Given the description of an element on the screen output the (x, y) to click on. 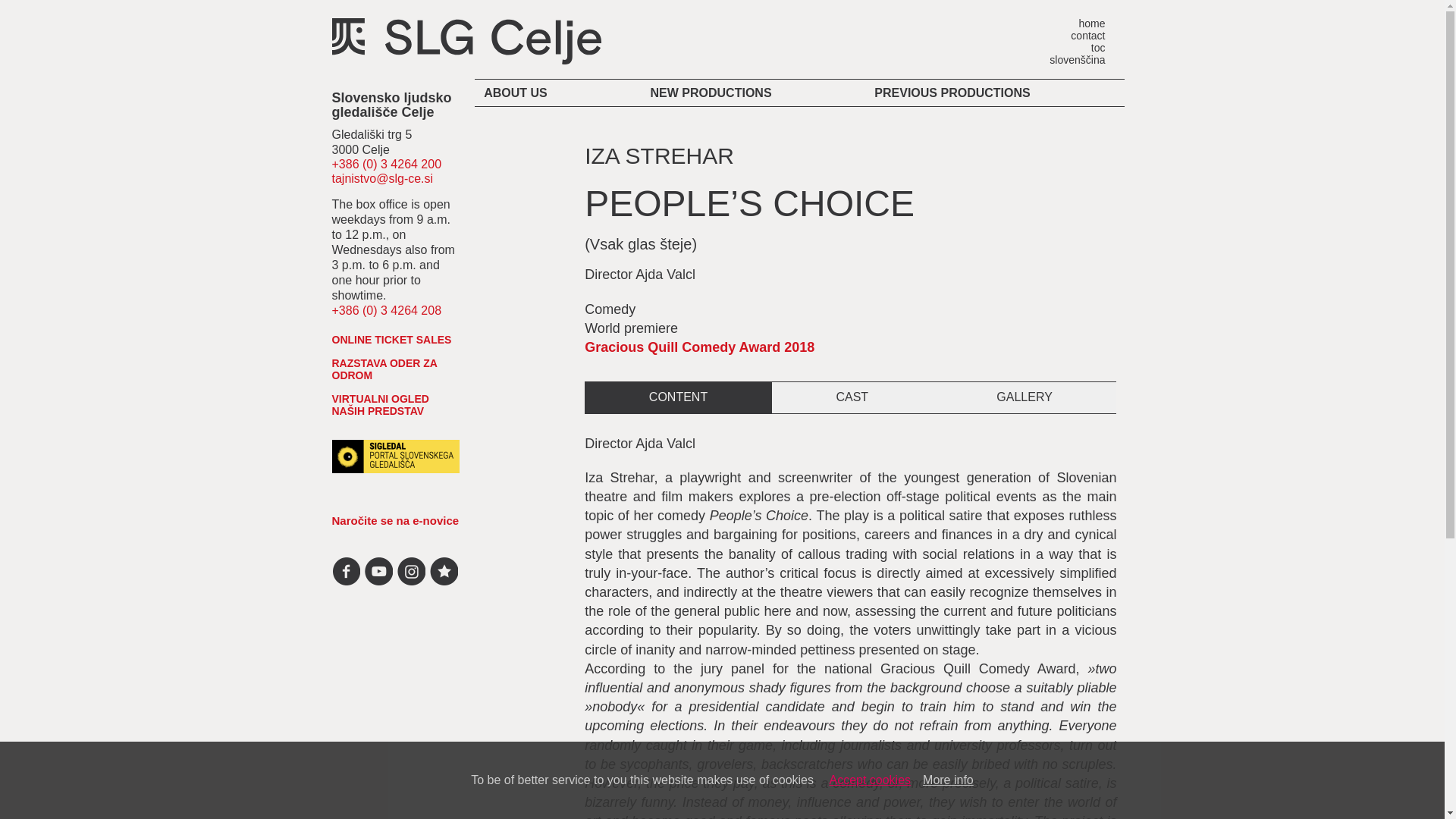
PREVIOUS PRODUCTIONS (972, 92)
Kokkola (732, 228)
toc (1080, 46)
Who is who (1080, 34)
The Cow That Barked at the Moon (732, 173)
contact (1080, 34)
NEW PRODUCTIONS (732, 92)
Table of contents (1080, 46)
Home (1080, 22)
Who is who (536, 146)
The Comedians of Carniola (732, 119)
This Merry Home (732, 146)
ABOUT US (536, 92)
A Respectable Wedding (732, 255)
home (1080, 22)
